Given the description of an element on the screen output the (x, y) to click on. 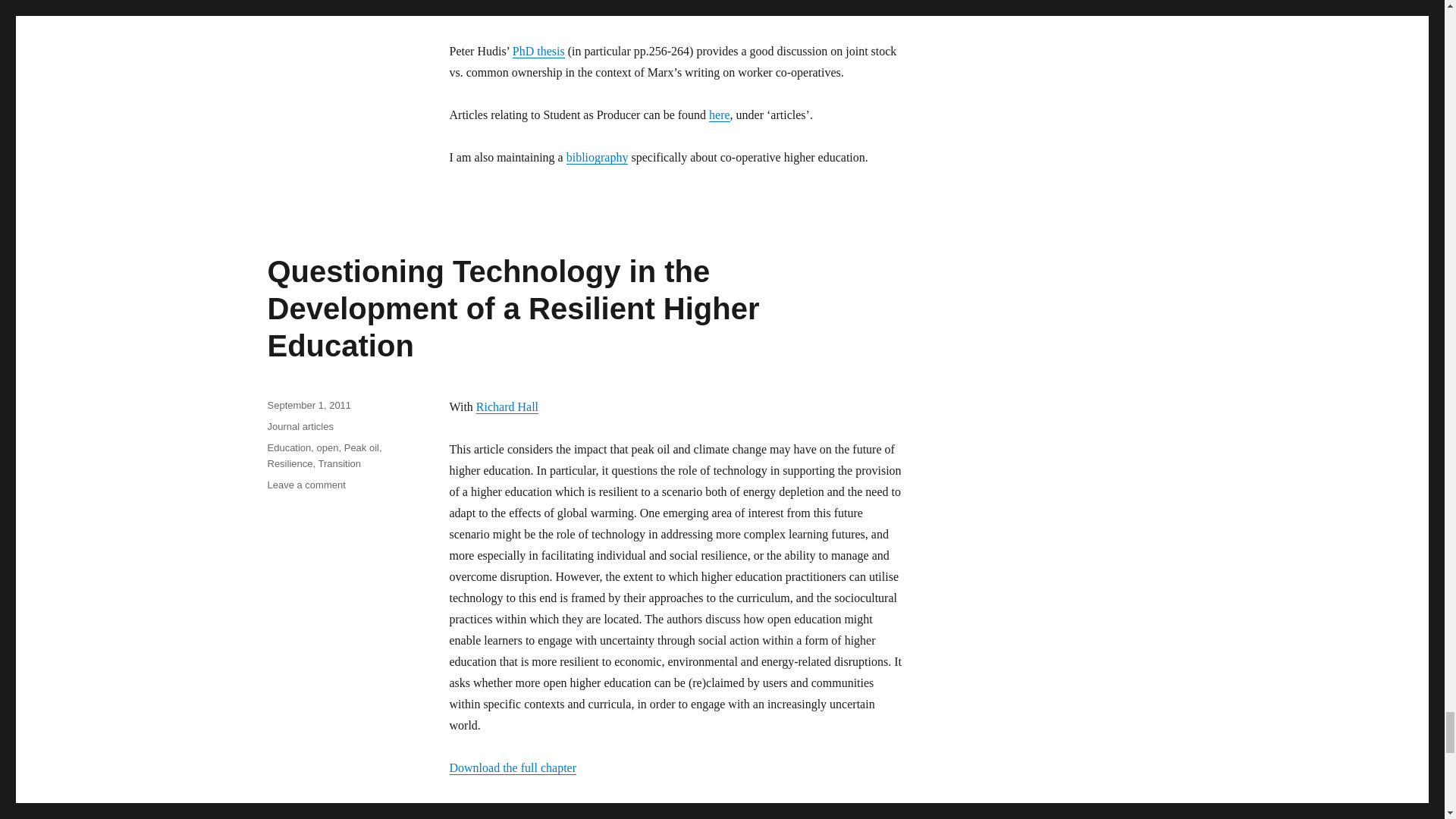
Richard Hall (507, 406)
